Given the description of an element on the screen output the (x, y) to click on. 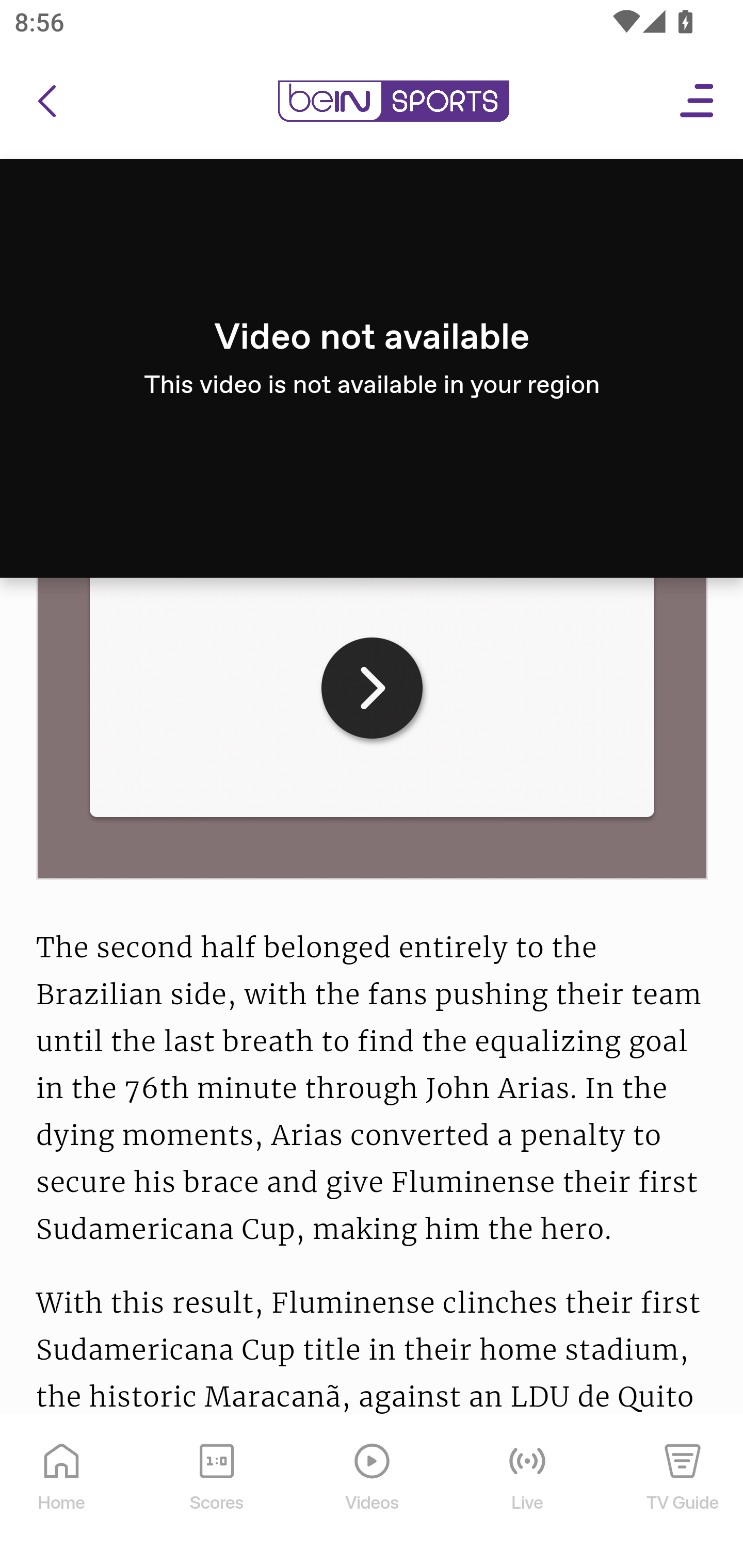
en-us?platform=mobile_android bein logo (392, 101)
icon back (46, 101)
Open Menu Icon (697, 101)
Home Home Icon Home (61, 1491)
Scores Scores Icon Scores (216, 1491)
Videos Videos Icon Videos (372, 1491)
TV Guide TV Guide Icon TV Guide (682, 1491)
